Given the description of an element on the screen output the (x, y) to click on. 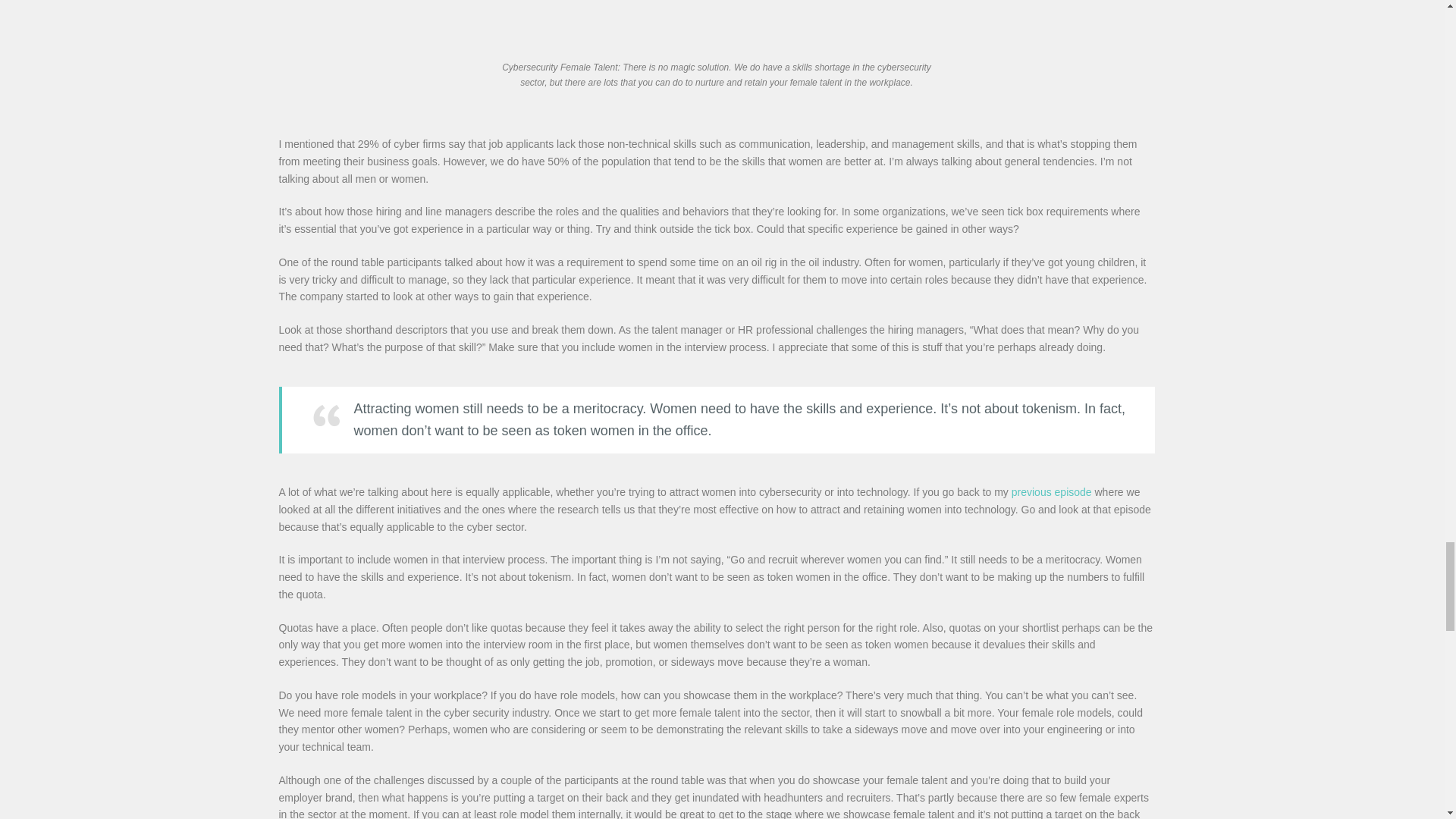
previous episode (1051, 491)
